Given the description of an element on the screen output the (x, y) to click on. 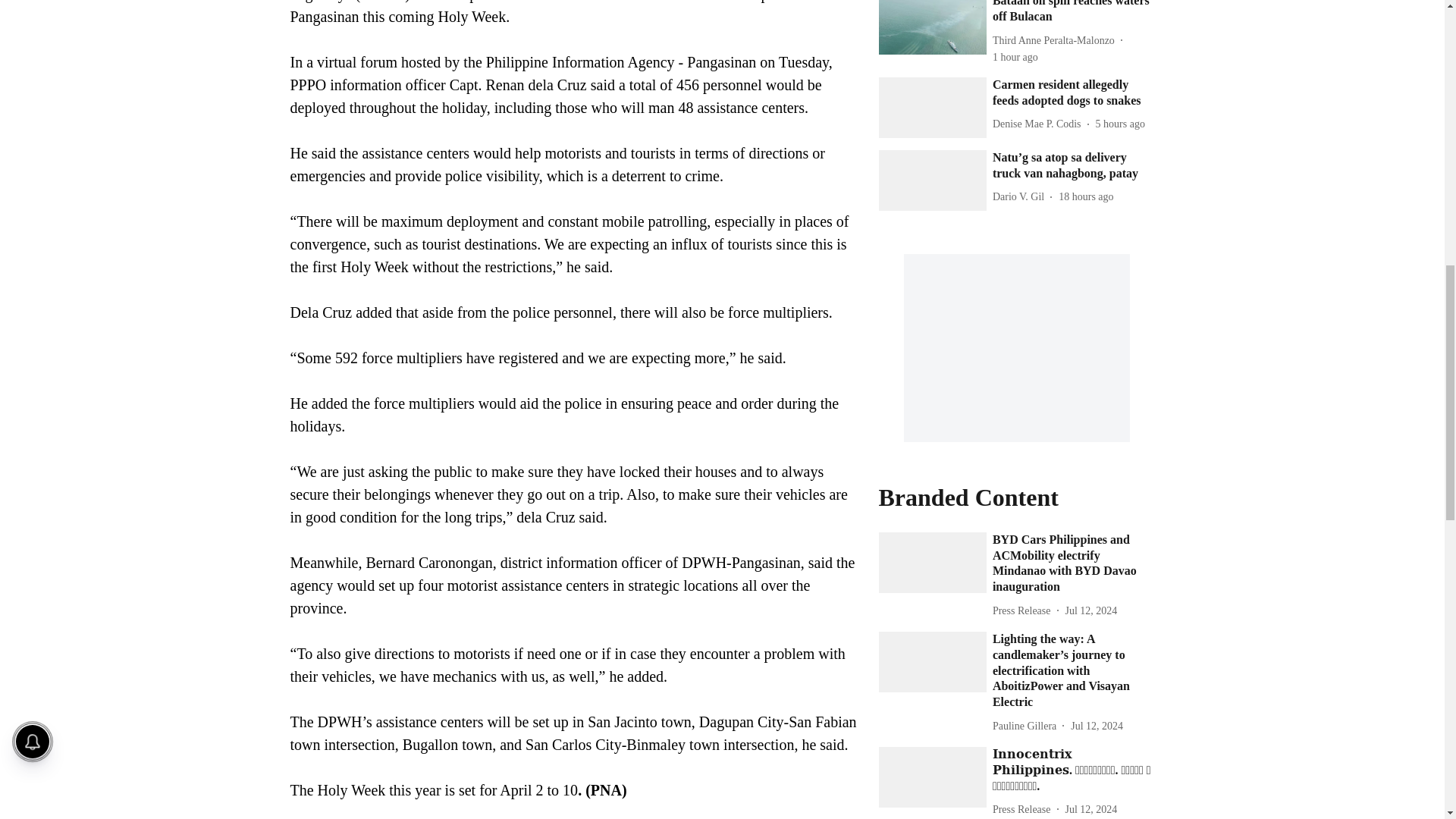
2024-07-12 10:22 (1090, 610)
2024-07-12 02:00 (1090, 809)
2024-07-27 14:10 (1085, 196)
2024-07-28 02:32 (1120, 123)
2024-07-28 06:40 (1015, 57)
2024-07-12 07:00 (1096, 725)
